Given the description of an element on the screen output the (x, y) to click on. 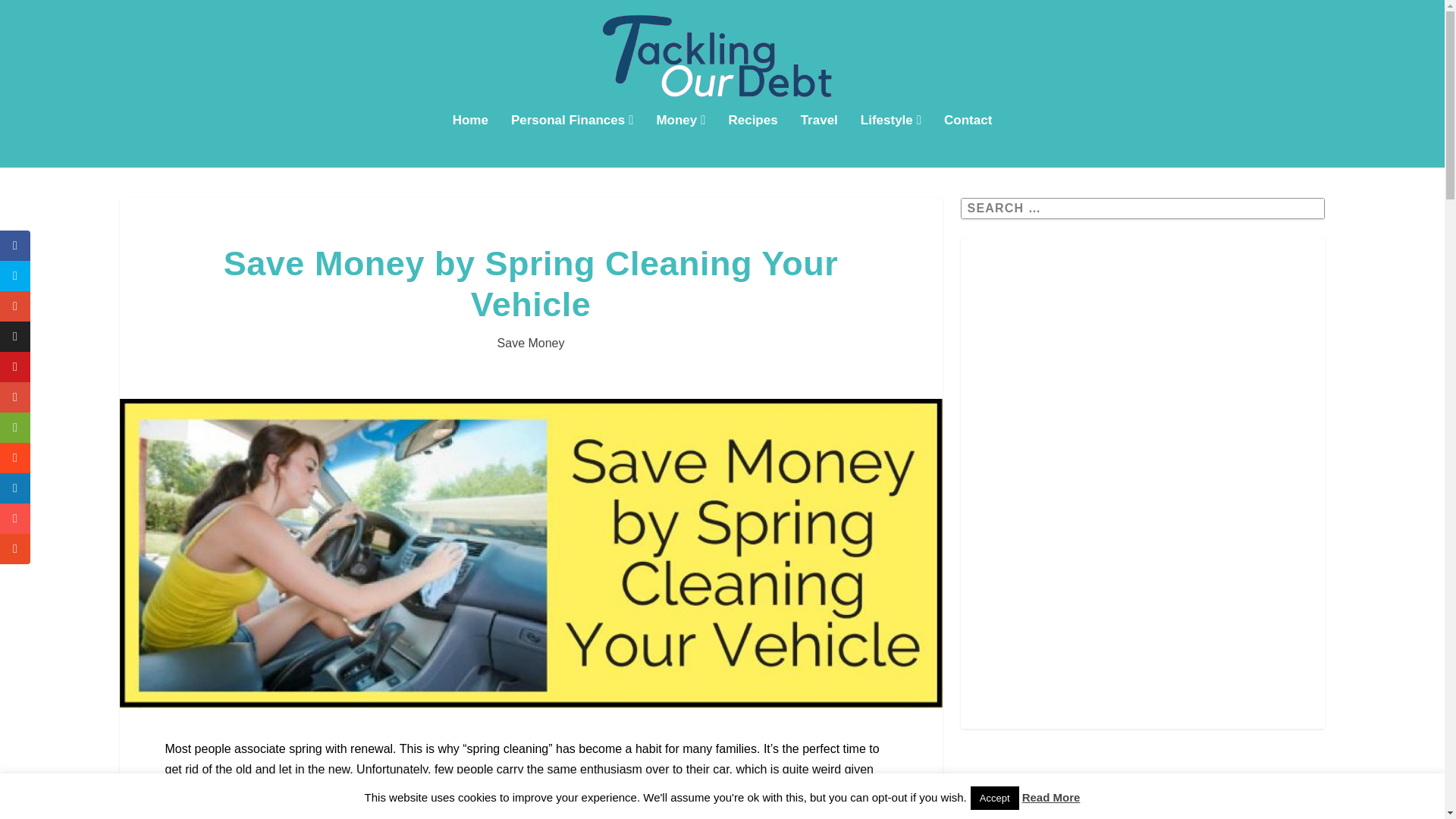
Money (680, 140)
Contact (967, 140)
Advertisement (1142, 616)
Lifestyle (890, 140)
Personal Finances (572, 140)
Recipes (752, 140)
